Given the description of an element on the screen output the (x, y) to click on. 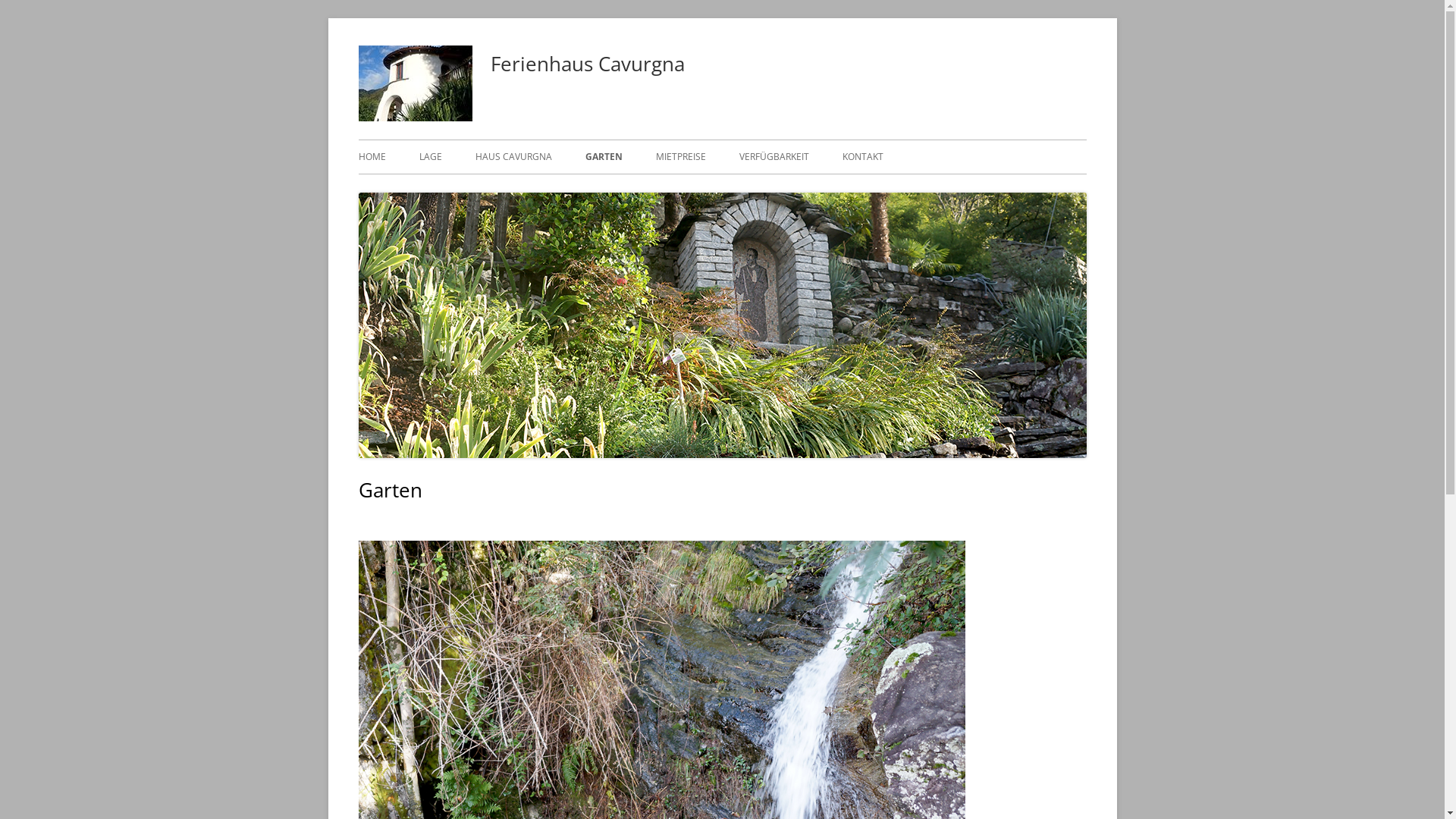
KONTAKT Element type: text (861, 156)
Ferienhaus Cavurgna Element type: text (586, 63)
Springe zum Inhalt Element type: text (0, 18)
HOME Element type: text (371, 156)
HAUS CAVURGNA Element type: text (512, 156)
GARTEN Element type: text (603, 156)
MIETPREISE Element type: text (680, 156)
LAGE Element type: text (429, 156)
